Given the description of an element on the screen output the (x, y) to click on. 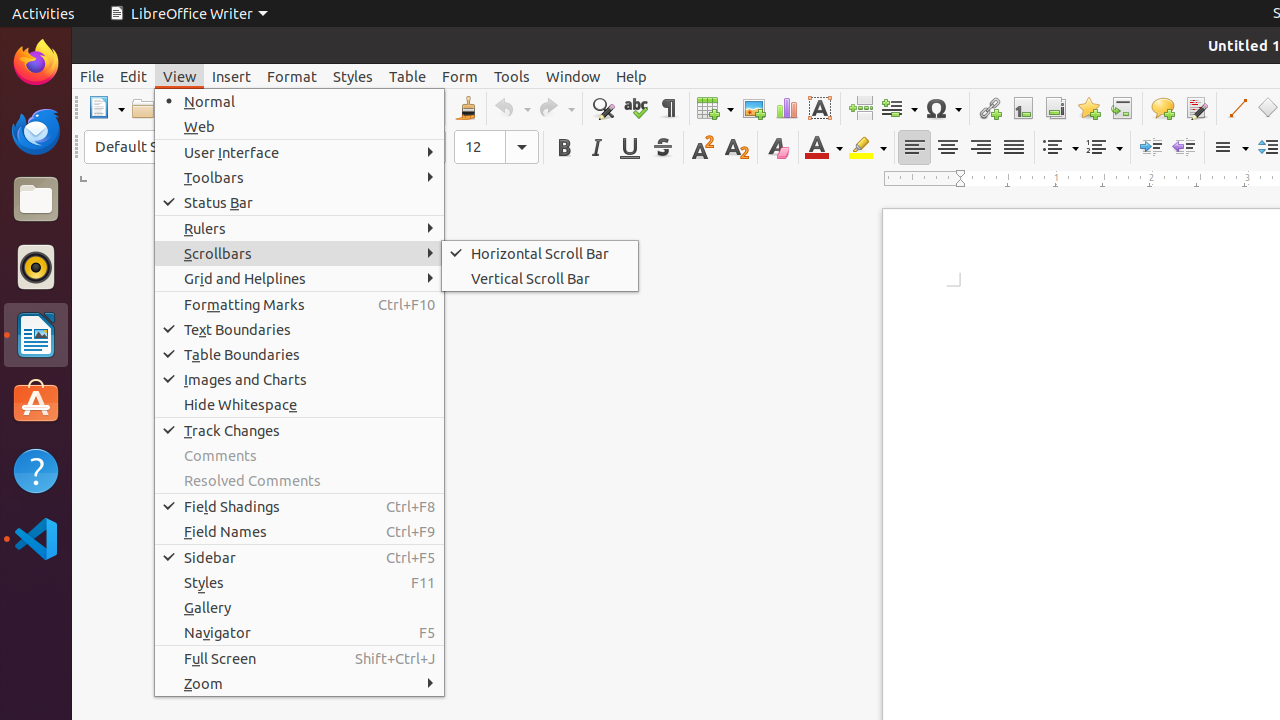
Images and Charts Element type: check-menu-item (299, 379)
